Given the description of an element on the screen output the (x, y) to click on. 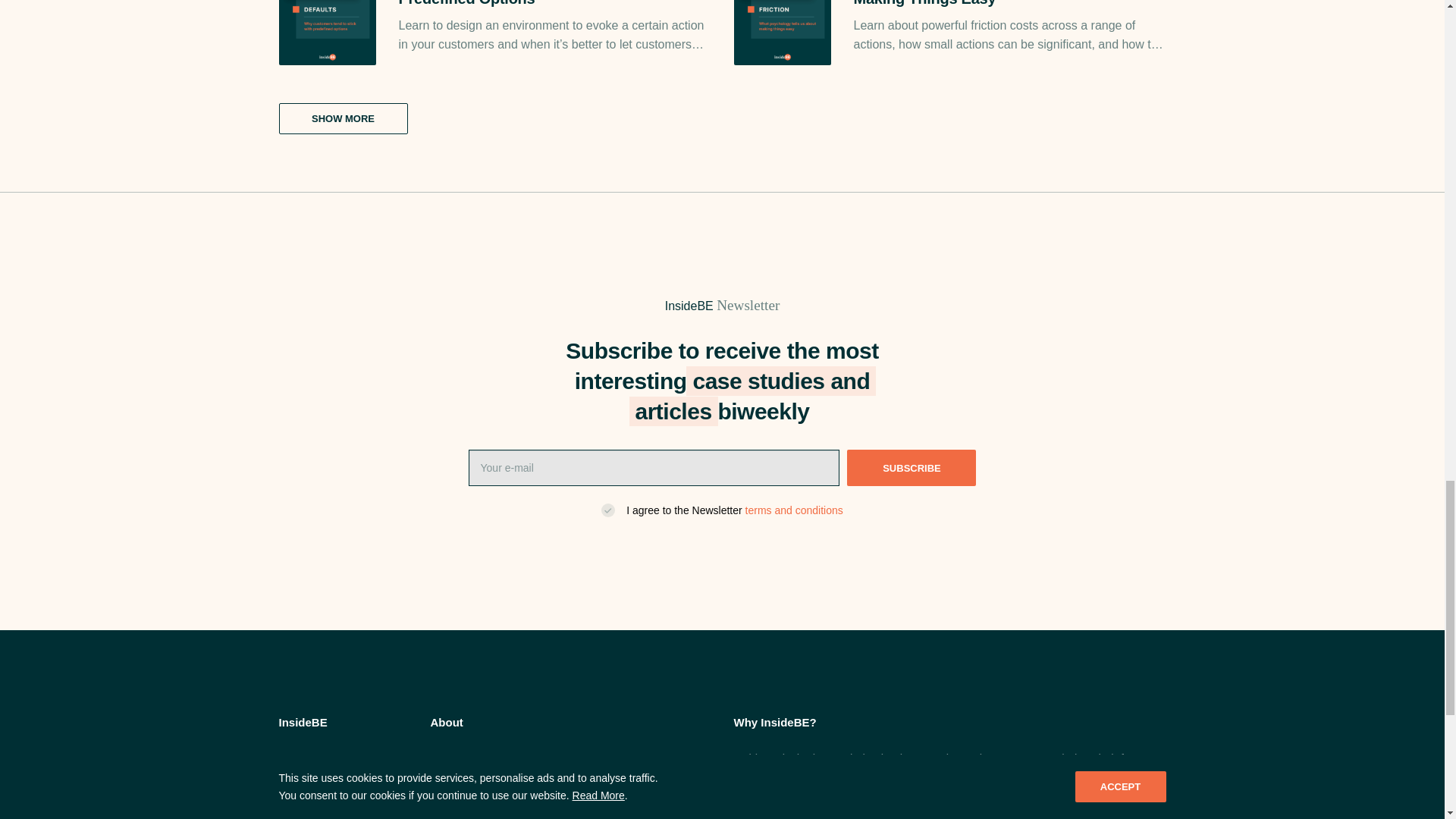
SHOW MORE (343, 118)
Friction: What Psychology Tells Us About Making Things Easy (1009, 4)
